Given the description of an element on the screen output the (x, y) to click on. 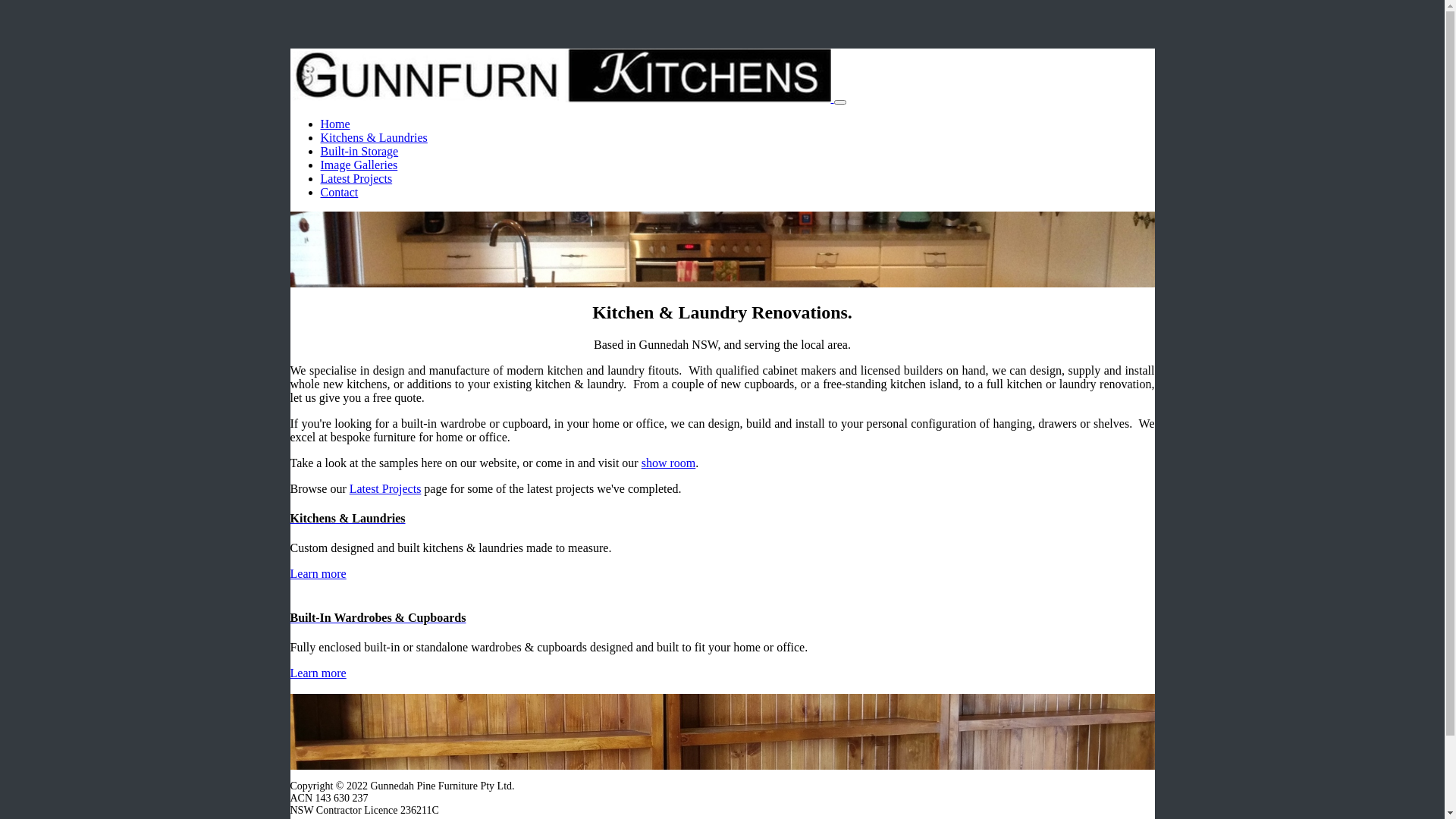
Kitchens & Laundries Element type: text (721, 518)
Built-In Wardrobes & Cupboards Element type: text (721, 617)
Learn more Element type: text (317, 573)
Home Element type: text (334, 123)
Latest Projects Element type: text (385, 488)
Latest Projects Element type: text (356, 178)
show room Element type: text (668, 462)
Contact Element type: text (338, 191)
Kitchens & Laundries Element type: text (373, 137)
Image Galleries Element type: text (358, 164)
Learn more Element type: text (317, 672)
Built-in Storage Element type: text (359, 150)
